Given the description of an element on the screen output the (x, y) to click on. 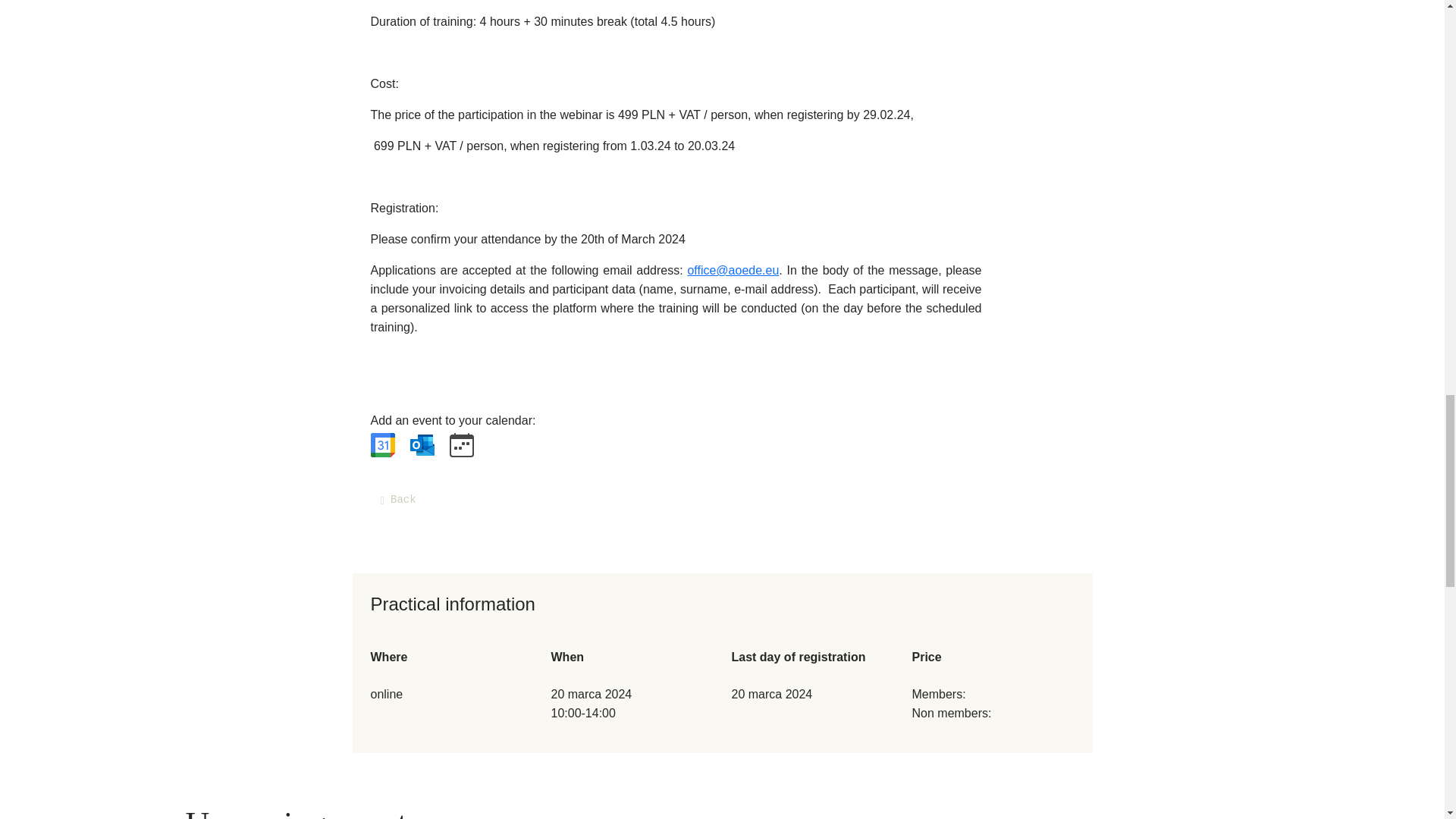
Back (397, 499)
